Given the description of an element on the screen output the (x, y) to click on. 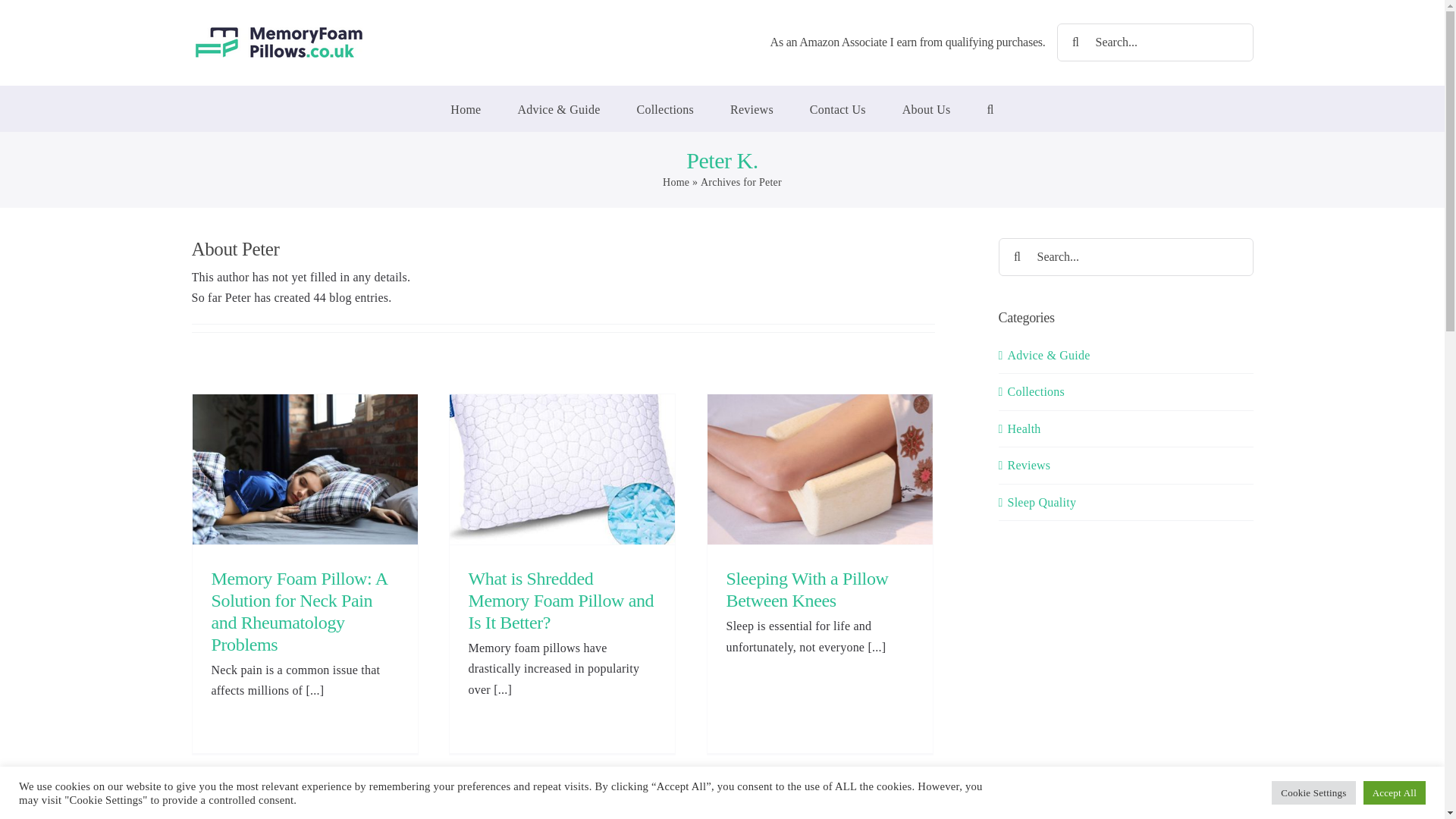
About Us (926, 108)
Reviews (751, 108)
Collections (665, 108)
Contact Us (837, 108)
